Given the description of an element on the screen output the (x, y) to click on. 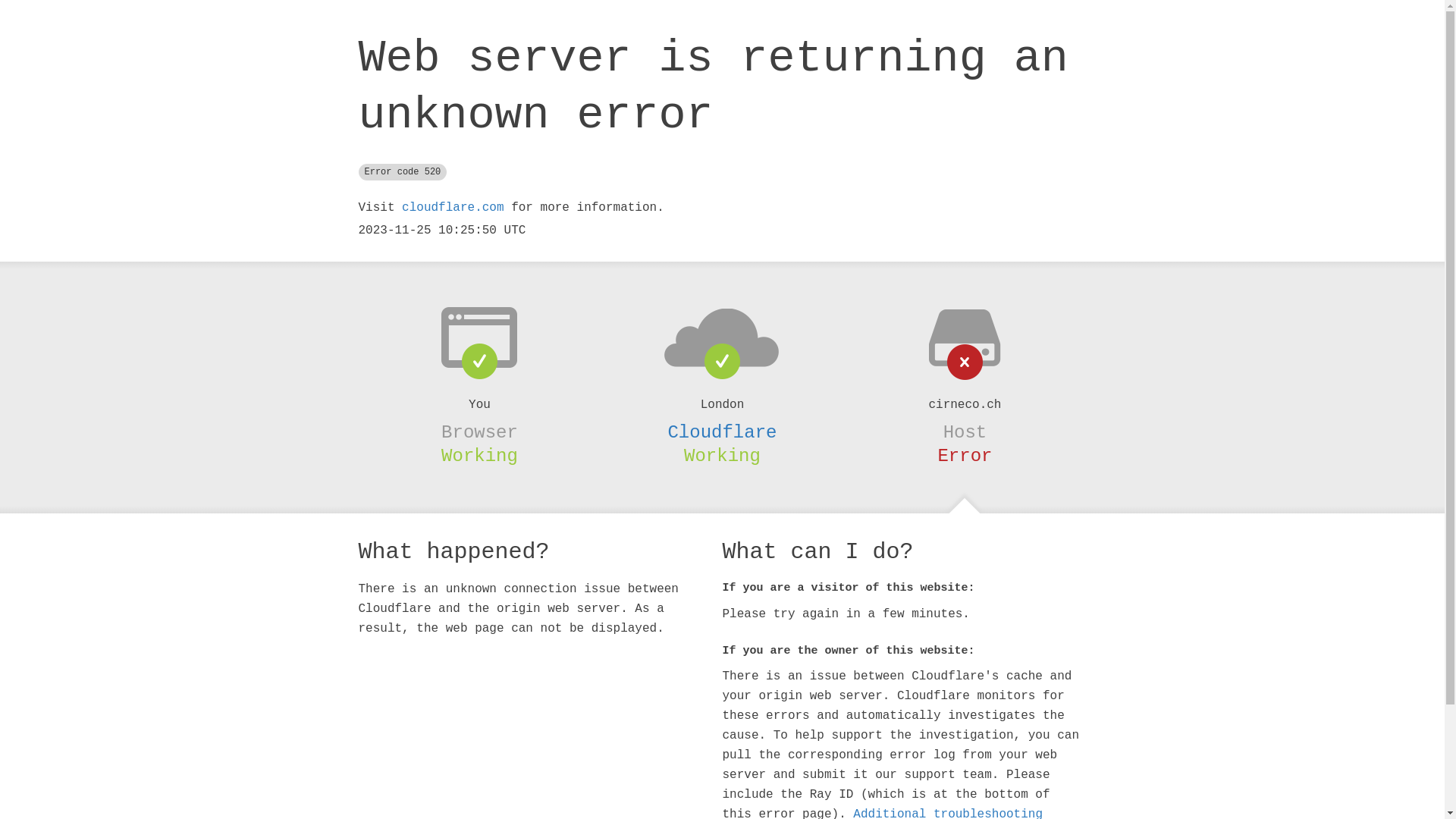
Cloudflare Element type: text (721, 432)
cloudflare.com Element type: text (452, 207)
